Given the description of an element on the screen output the (x, y) to click on. 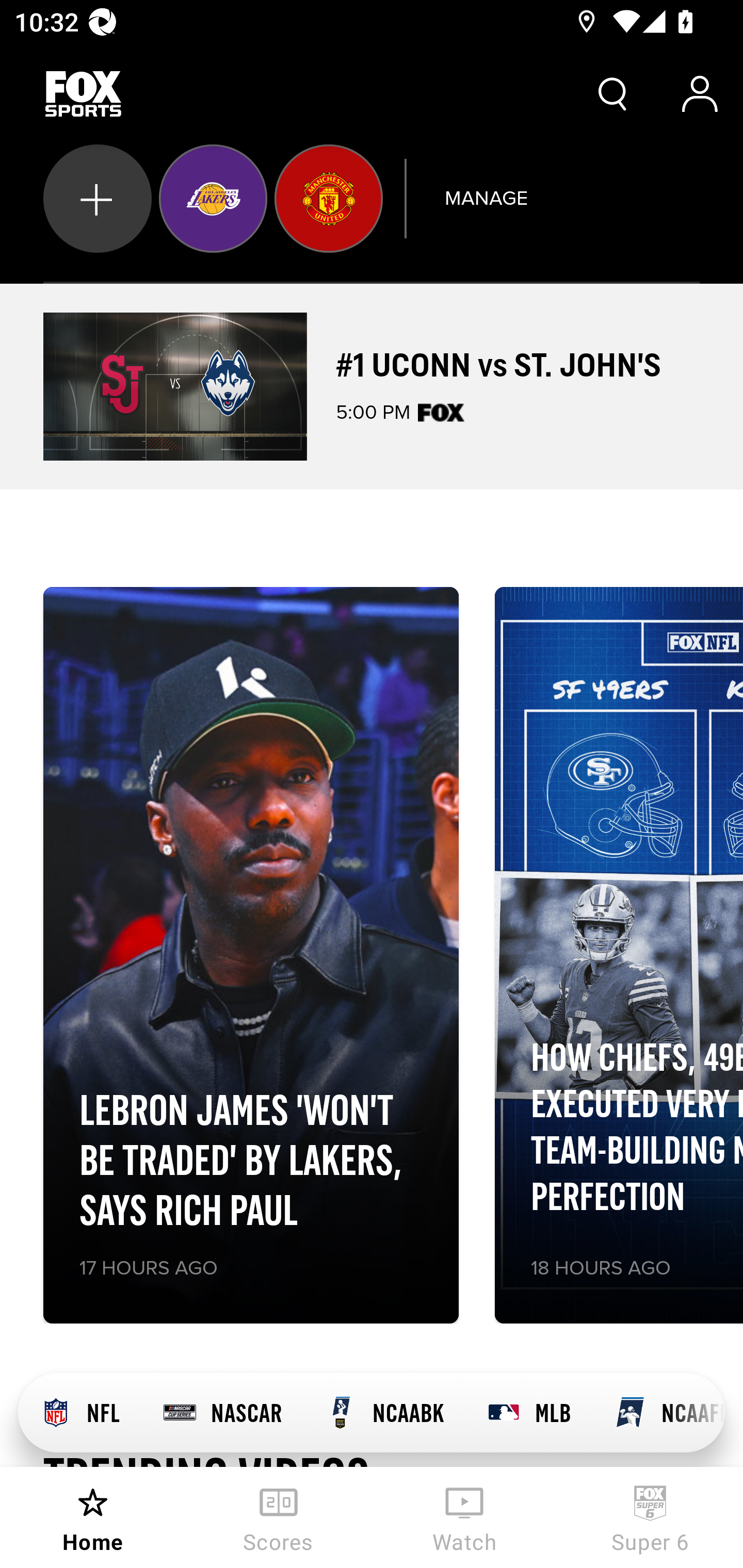
Search (612, 93)
Account (699, 93)
MANAGE (485, 198)
#1 UCONN vs ST. JOHN'S 5:00 PM (371, 386)
NFL (79, 1412)
NASCAR (222, 1412)
NCAABK (384, 1412)
MLB (528, 1412)
NCAAFB (658, 1412)
Scores (278, 1517)
Watch (464, 1517)
Super 6 (650, 1517)
